Given the description of an element on the screen output the (x, y) to click on. 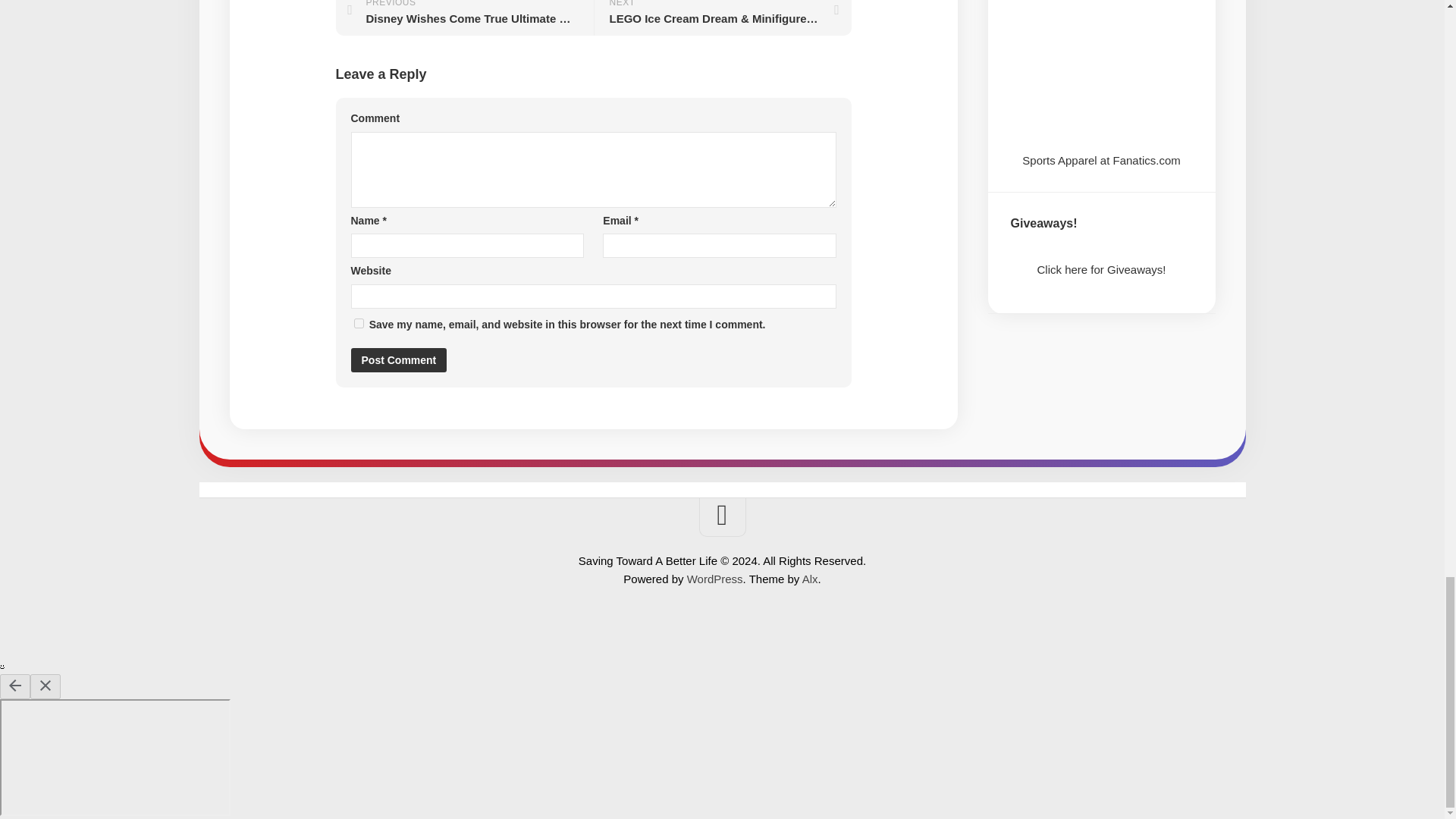
yes (357, 323)
Post Comment (398, 360)
